Given the description of an element on the screen output the (x, y) to click on. 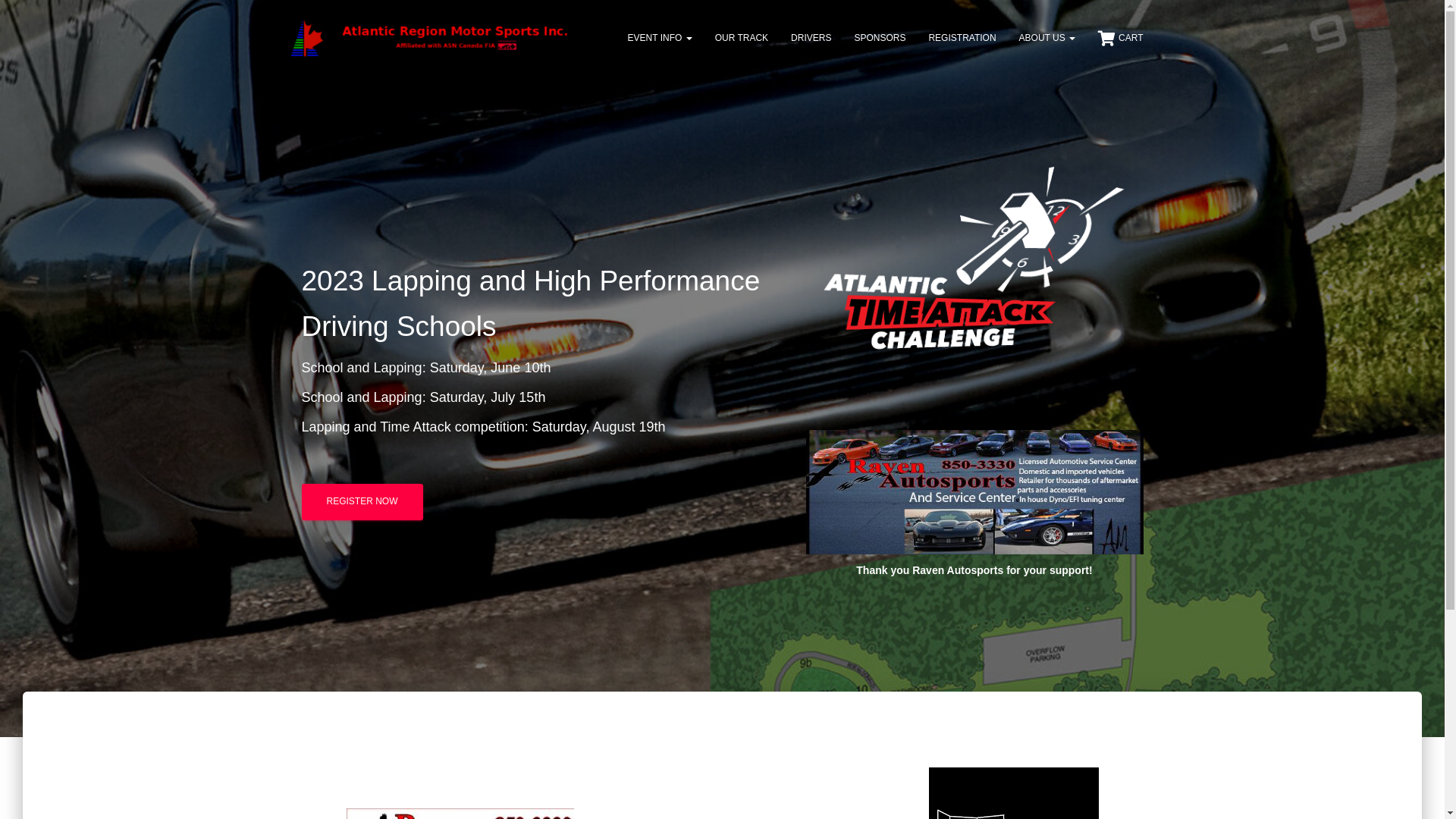
OUR TRACK Element type: text (741, 37)
ABOUT US Element type: text (1046, 37)
SPONSORS Element type: text (879, 37)
REGISTER NOW Element type: text (362, 501)
EVENT INFO Element type: text (659, 37)
DRIVERS Element type: text (810, 37)
REGISTRATION Element type: text (961, 37)
Atlantic Time Attack Challenge Element type: hover (430, 37)
CART Element type: text (1120, 37)
